Given the description of an element on the screen output the (x, y) to click on. 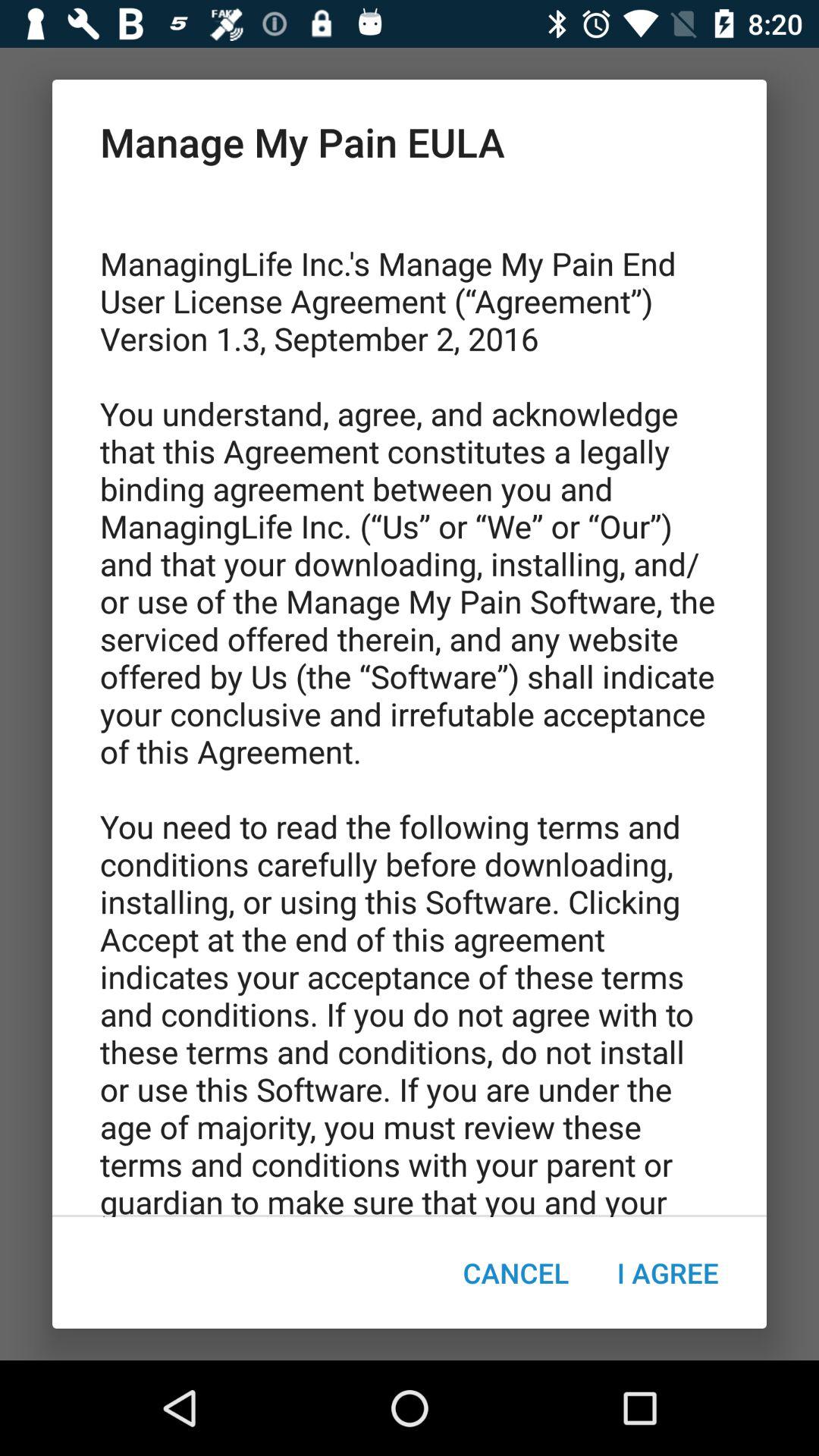
flip until cancel icon (516, 1272)
